Given the description of an element on the screen output the (x, y) to click on. 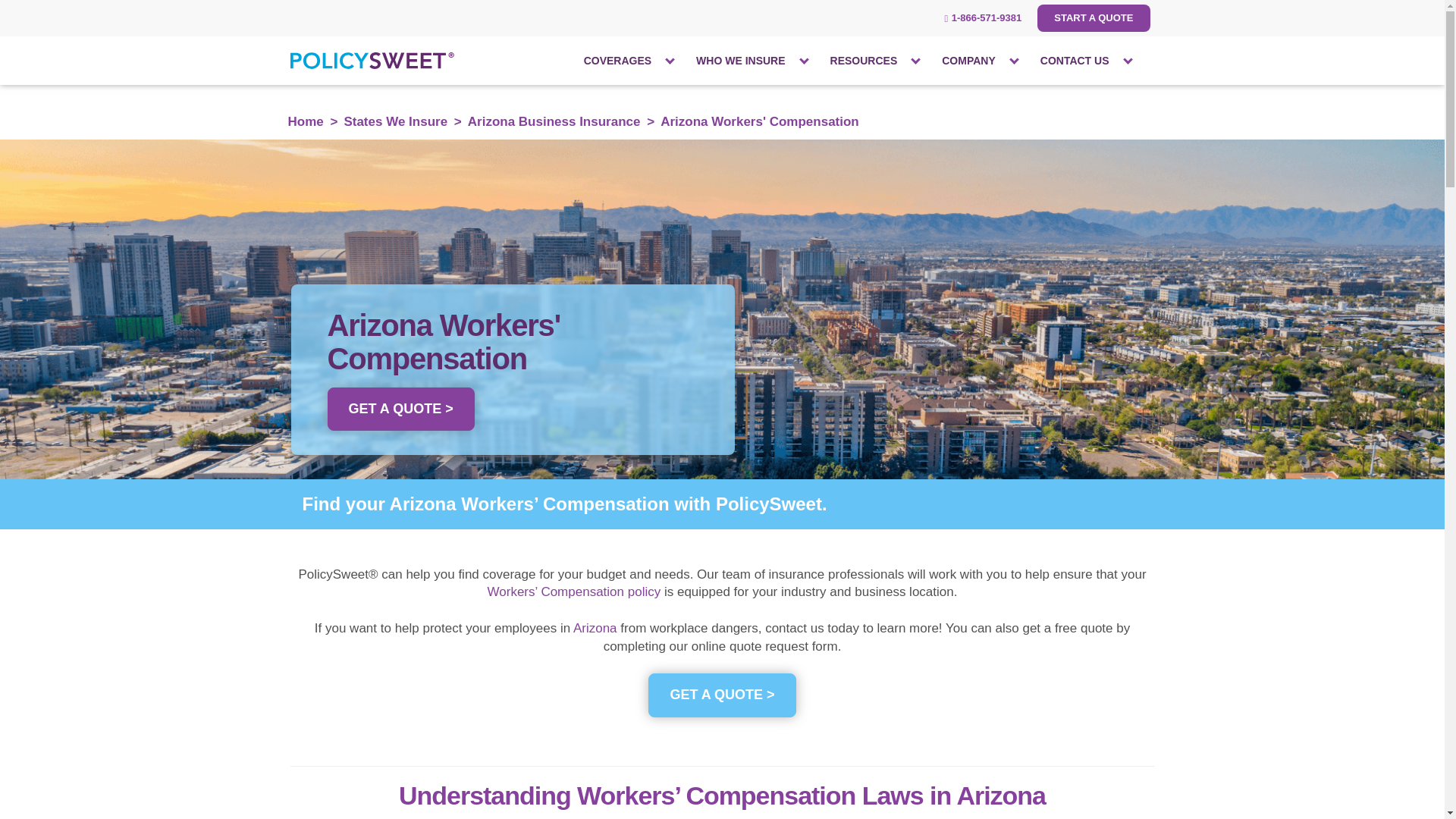
RESOURCES (858, 60)
START A QUOTE (1093, 17)
policysweet (373, 60)
COMPANY (962, 60)
CONTACT US (1069, 60)
WHO WE INSURE (734, 60)
1-866-571-9381 (982, 17)
COVERAGES (611, 60)
